Given the description of an element on the screen output the (x, y) to click on. 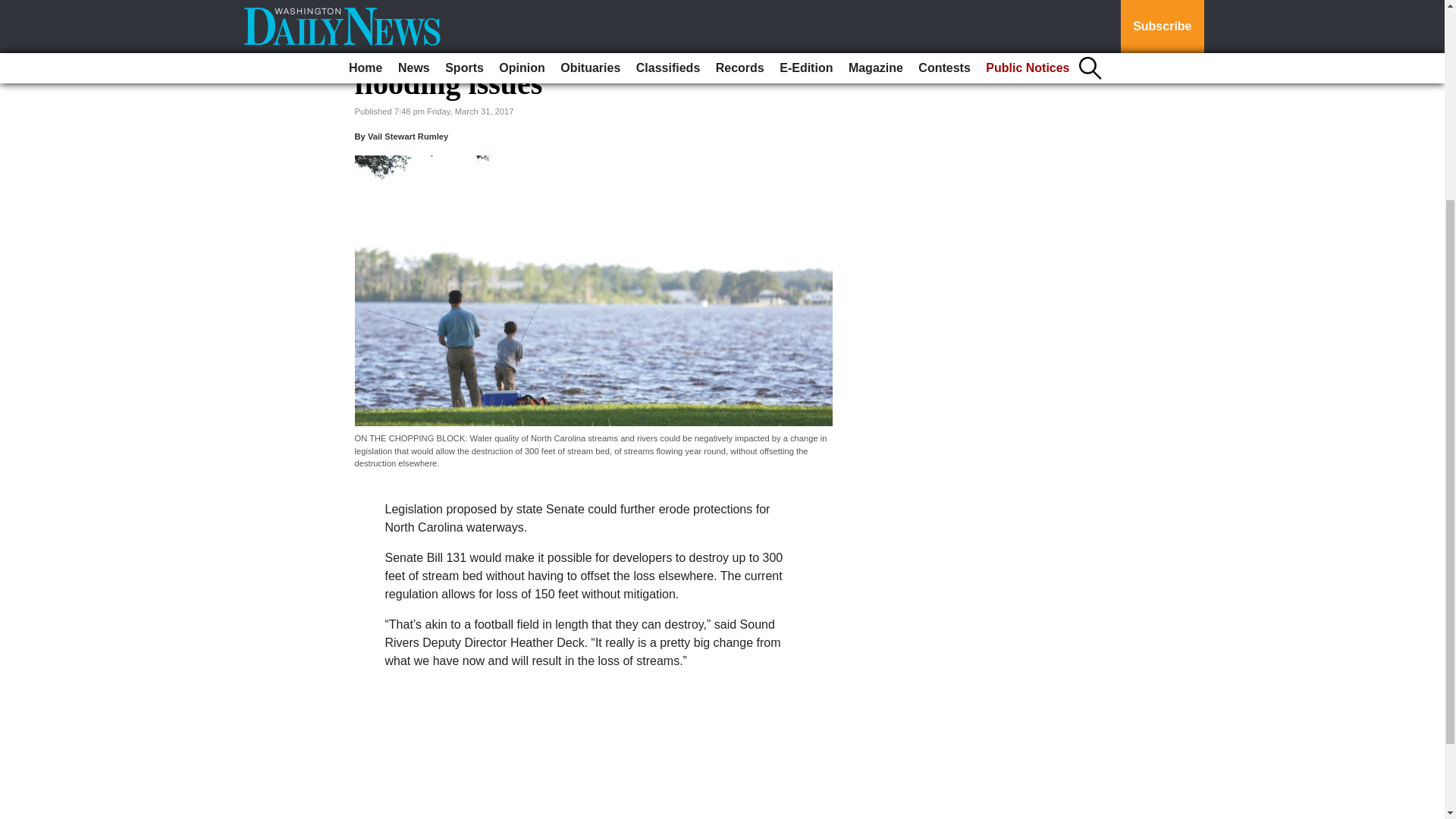
Vail Stewart Rumley (408, 135)
